Given the description of an element on the screen output the (x, y) to click on. 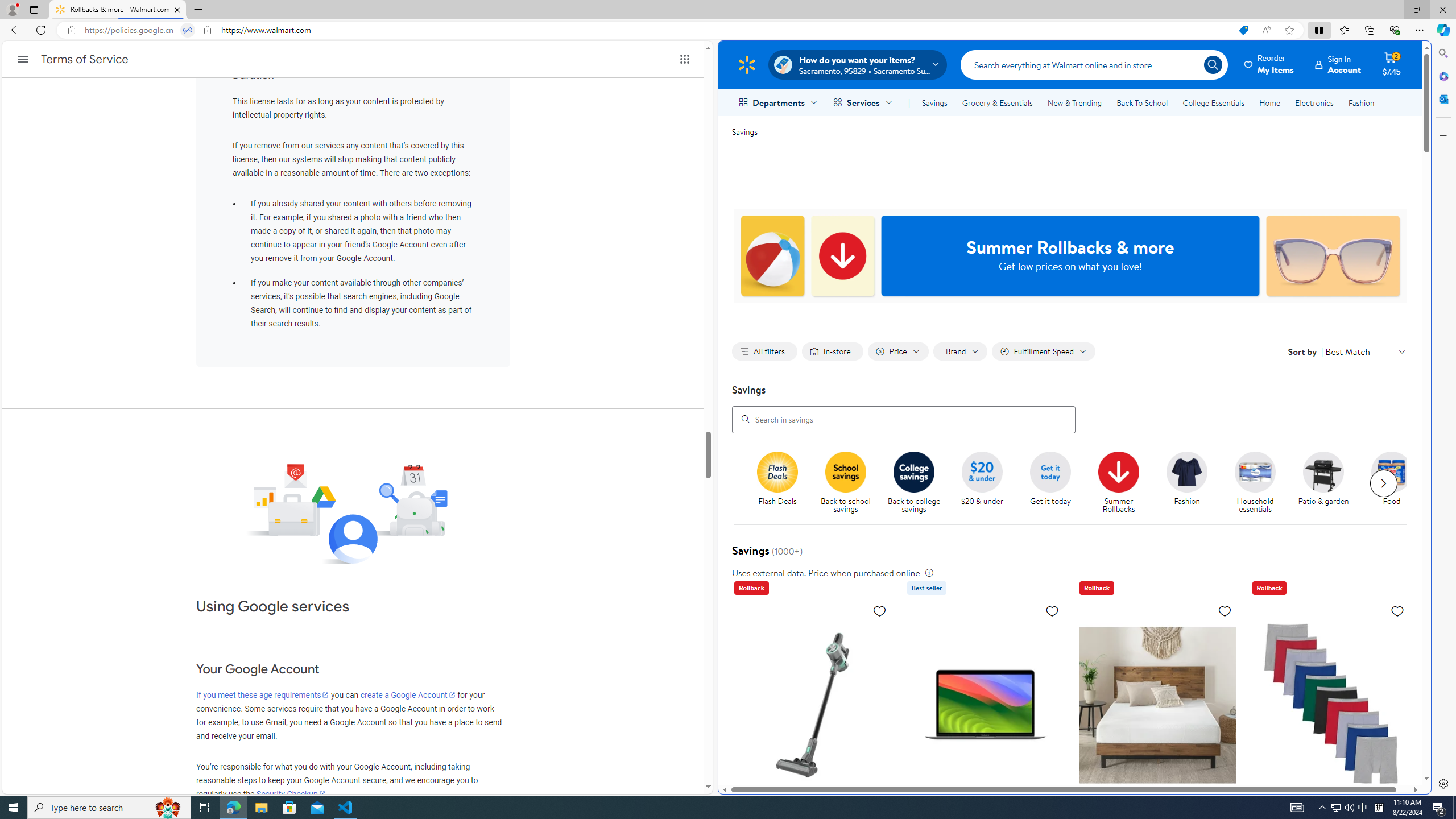
Close (1442, 9)
Get it today Get it today (1050, 478)
Sign In Account (1338, 64)
Grocery & Essentials (997, 102)
Grocery & Essentials (997, 102)
Collections (1369, 29)
View site information (207, 29)
Back to school savings (849, 483)
Summer Rollbacks Summer Rollbacks (1118, 483)
Tab actions menu (33, 9)
Filter by Fulfillment Speed not applied, activate to change (1043, 351)
Food (1395, 483)
Zinus Spa Sensations Serenity 8" Memory Foam Mattress, Full (1157, 704)
